Given the description of an element on the screen output the (x, y) to click on. 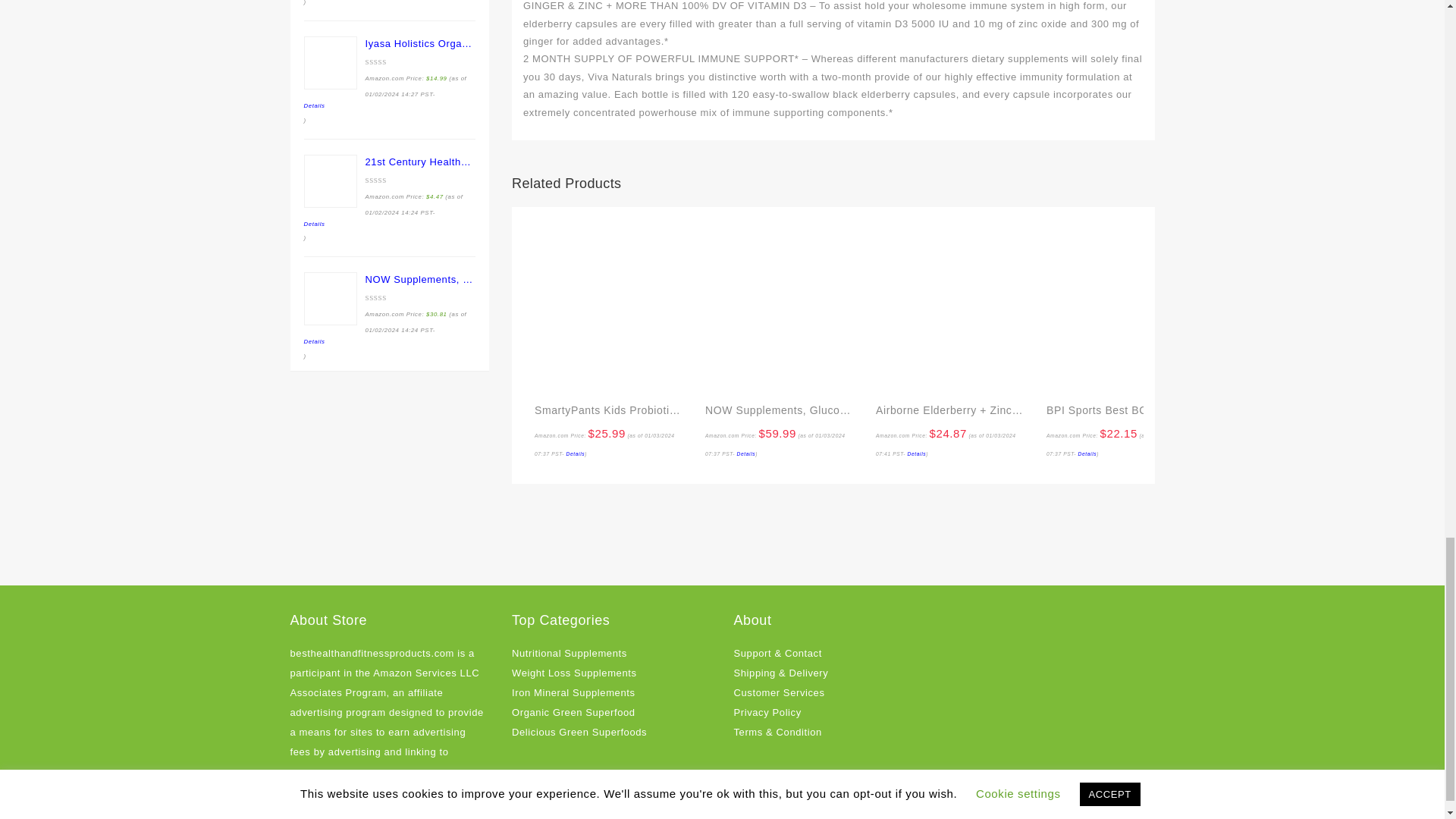
Details (575, 453)
